Given the description of an element on the screen output the (x, y) to click on. 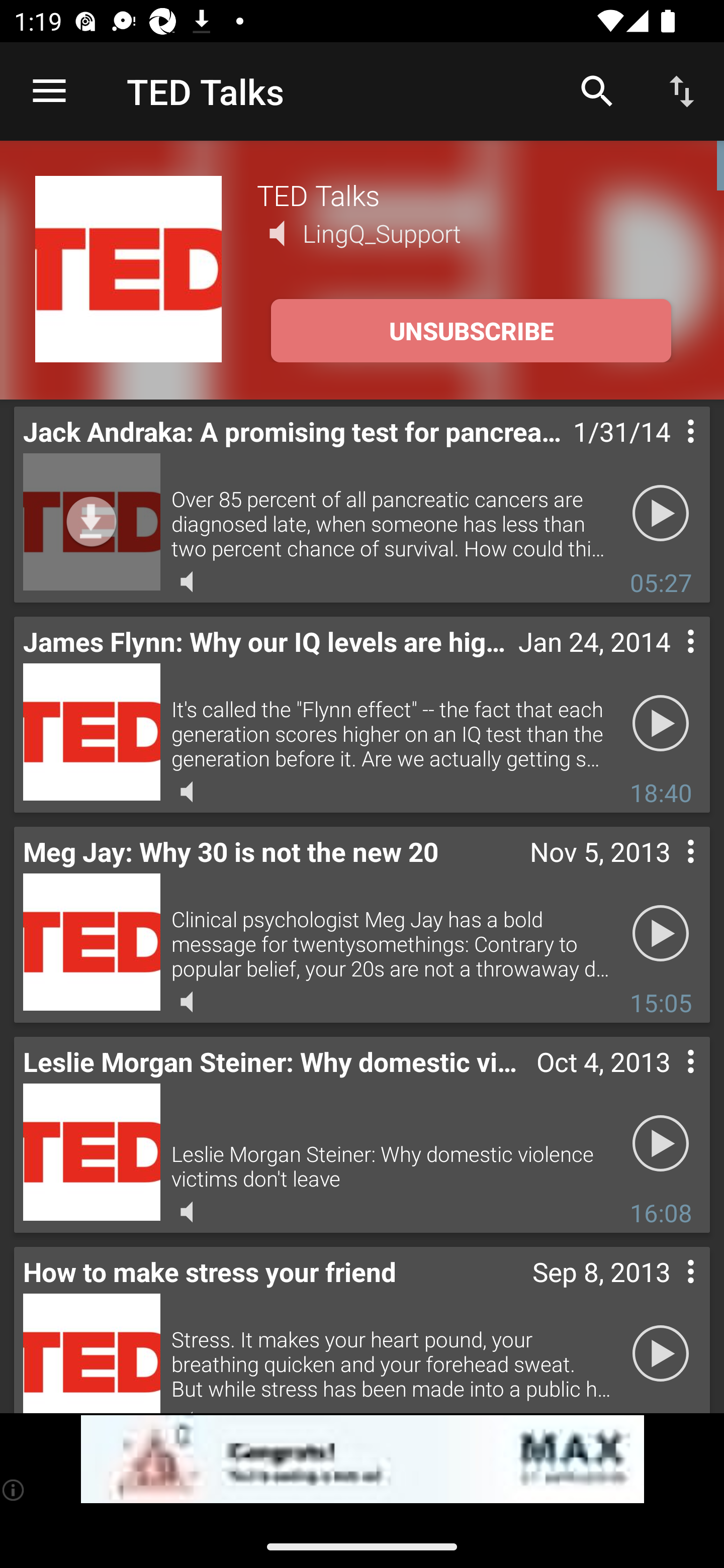
Open navigation sidebar (49, 91)
Search (597, 90)
Sort (681, 90)
UNSUBSCRIBE (470, 330)
Contextual menu (668, 451)
Play (660, 513)
Contextual menu (668, 661)
Play (660, 723)
Contextual menu (668, 870)
Play (660, 933)
Contextual menu (668, 1080)
Play (660, 1143)
Contextual menu (668, 1290)
Play (660, 1353)
app-monetization (362, 1459)
(i) (14, 1489)
